Given the description of an element on the screen output the (x, y) to click on. 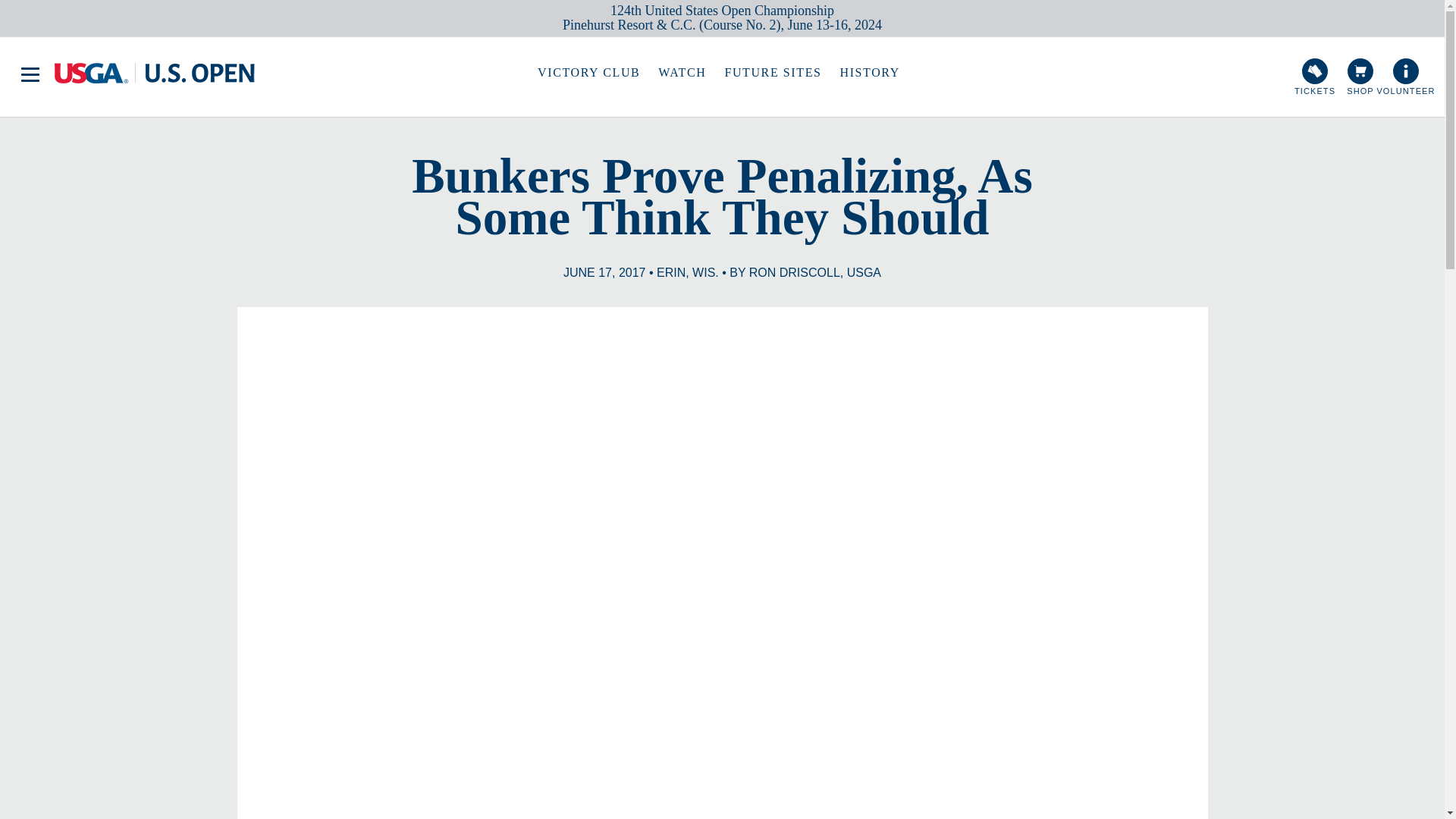
Volunteer (1405, 76)
SHOP (1360, 76)
VOLUNTEER (1405, 76)
FUTURE SITES (772, 72)
WATCH (682, 72)
HISTORY (869, 72)
Shop (1360, 76)
VICTORY CLUB (588, 72)
TICKETS (1315, 76)
Tickets (1315, 76)
